Given the description of an element on the screen output the (x, y) to click on. 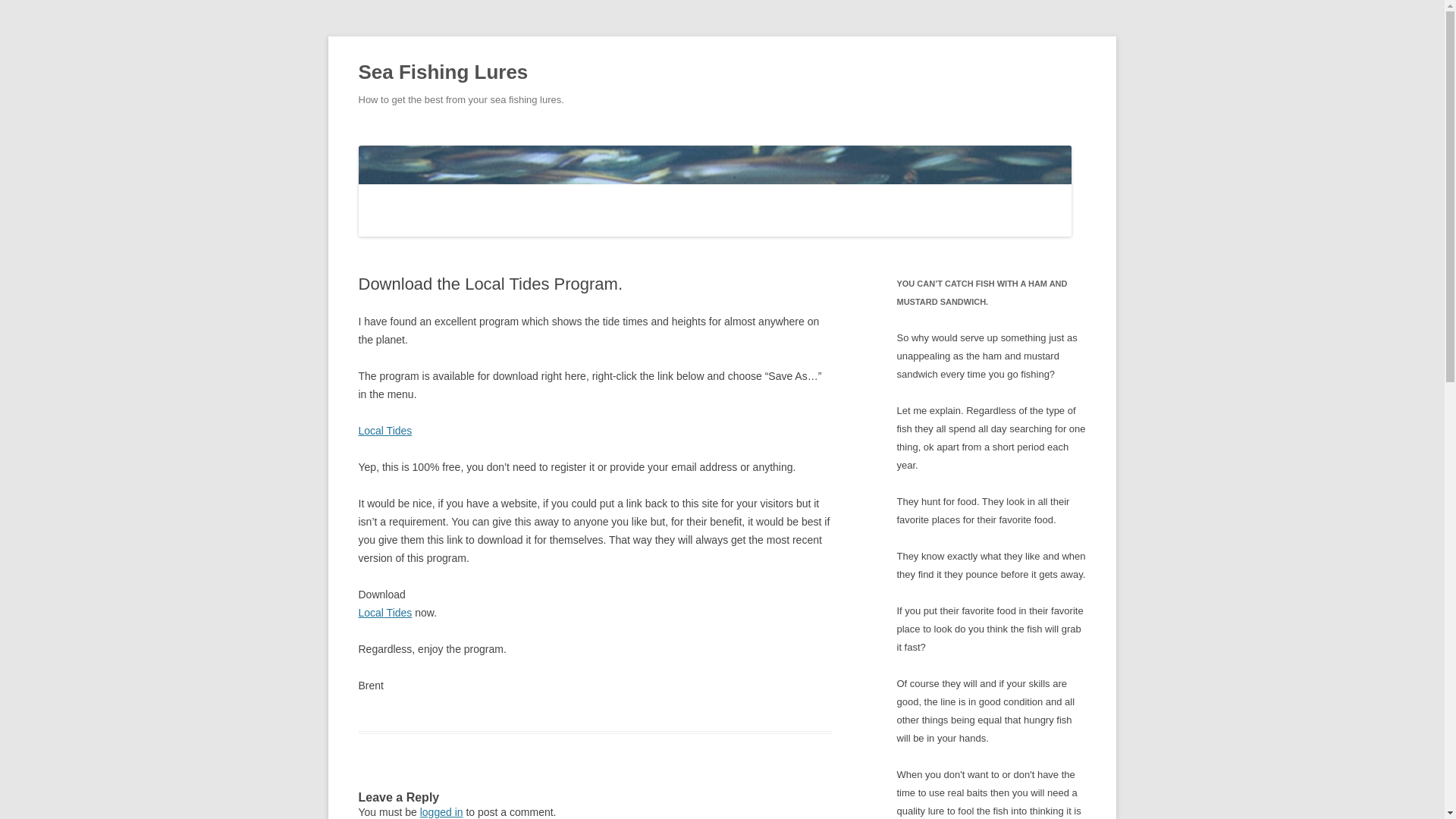
Local Tides (385, 430)
logged in (441, 811)
Sea Fishing Lures (442, 72)
Local Tides (385, 612)
